Given the description of an element on the screen output the (x, y) to click on. 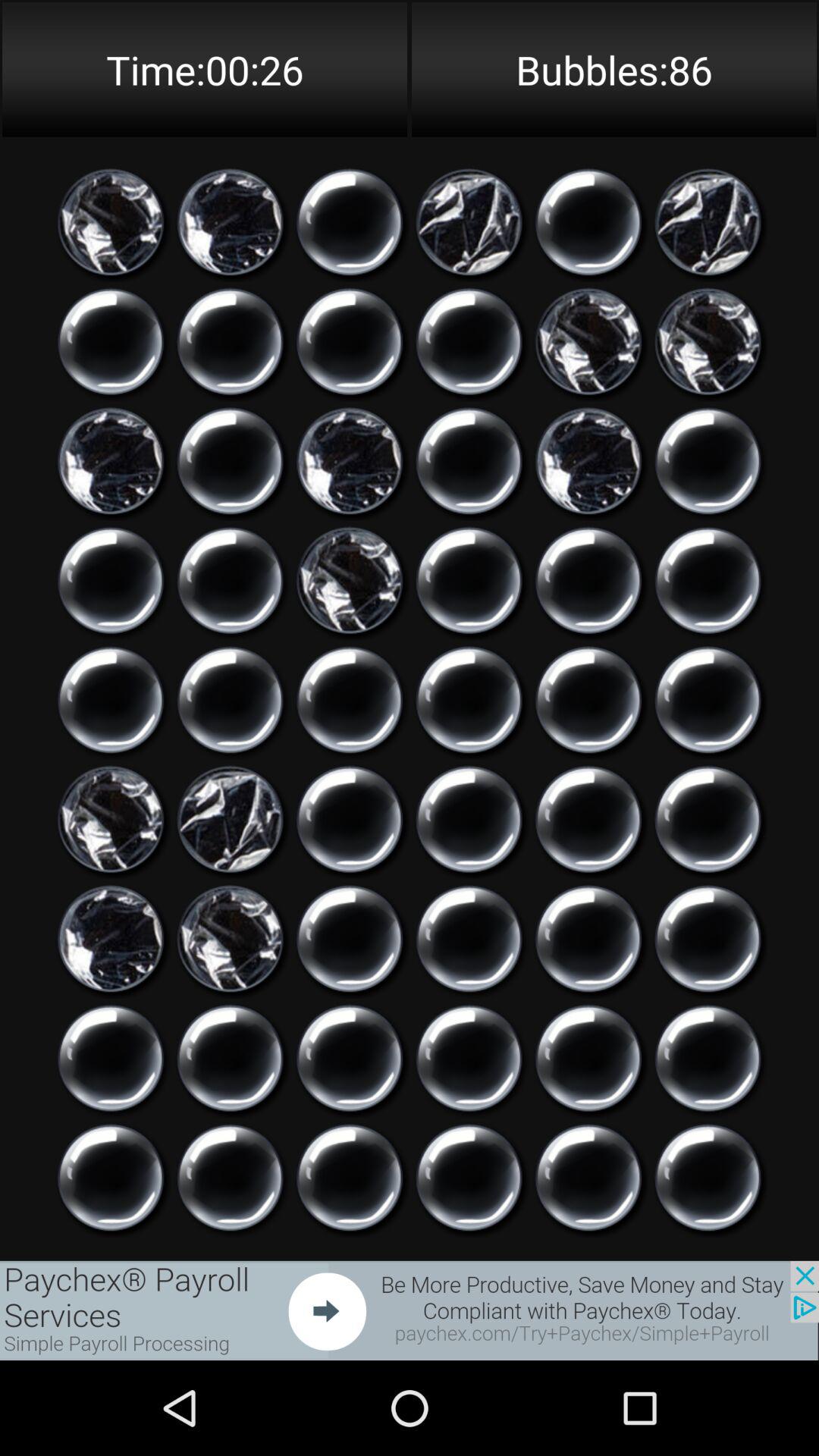
gaming bubbles (349, 699)
